Given the description of an element on the screen output the (x, y) to click on. 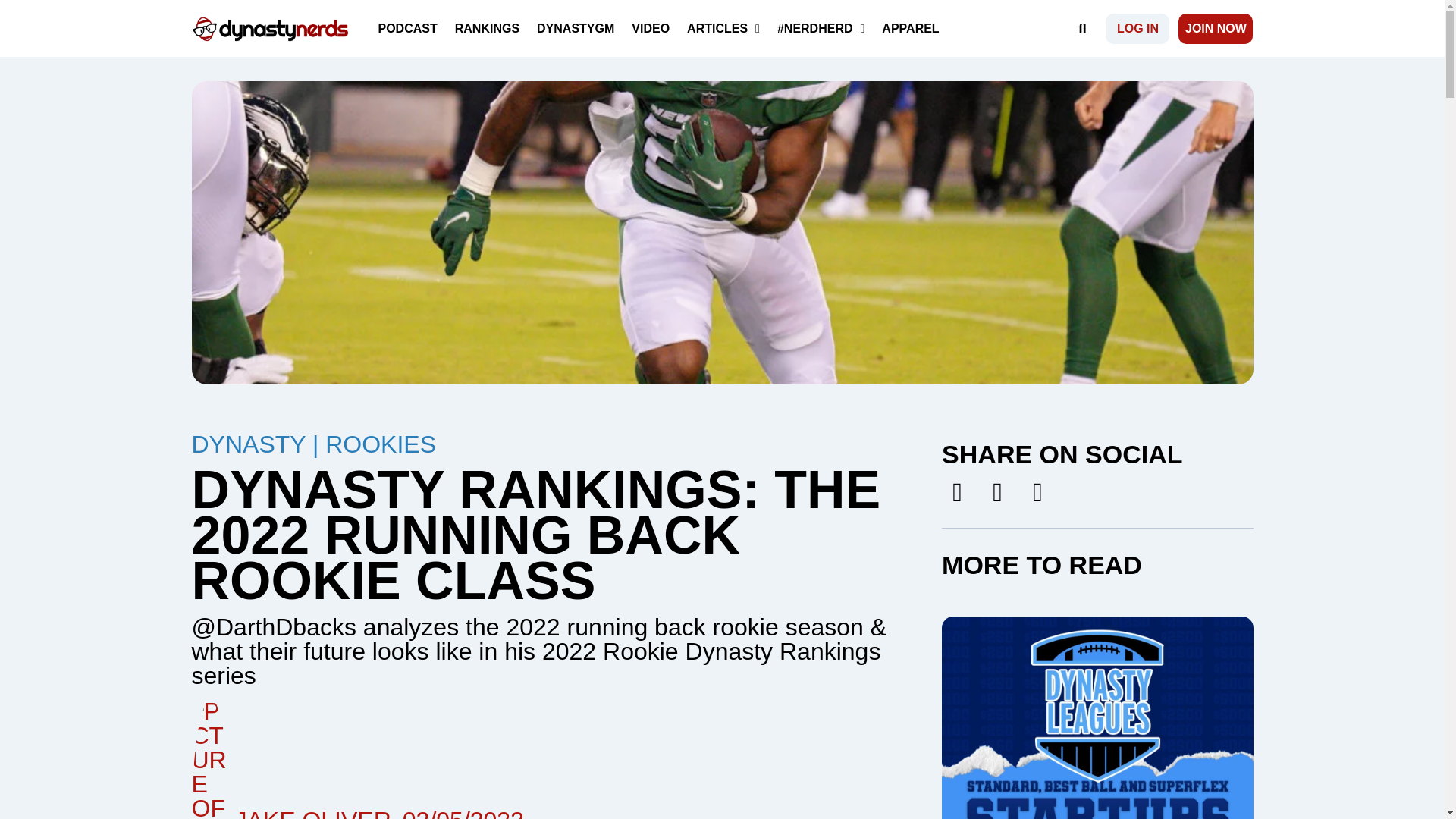
DYNASTYGM (575, 27)
PODCAST (407, 27)
VIDEO (650, 27)
ARTICLES (723, 27)
APPAREL (910, 27)
RANKINGS (486, 27)
